Given the description of an element on the screen output the (x, y) to click on. 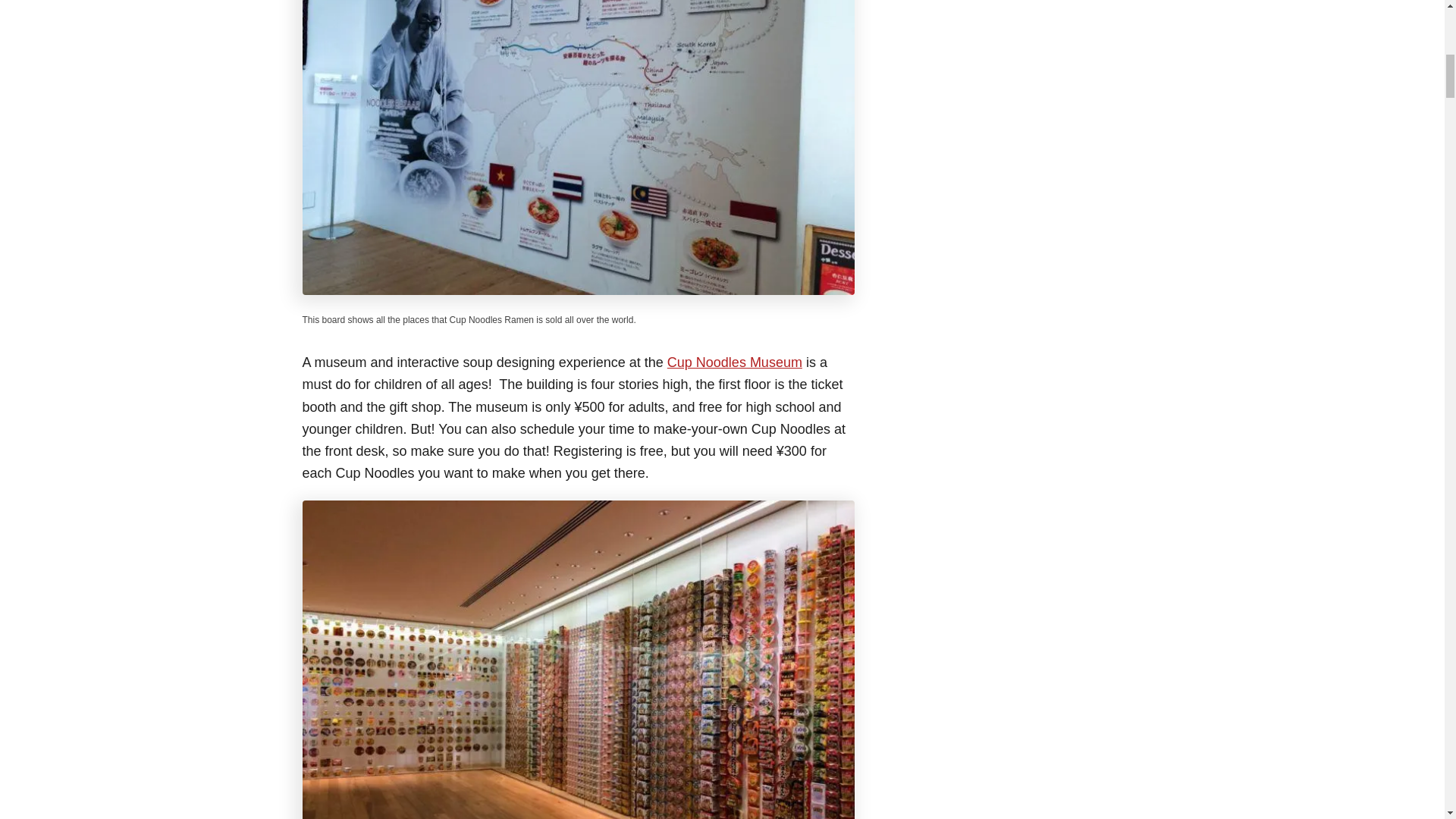
Cup Noodles Museum (734, 362)
